Given the description of an element on the screen output the (x, y) to click on. 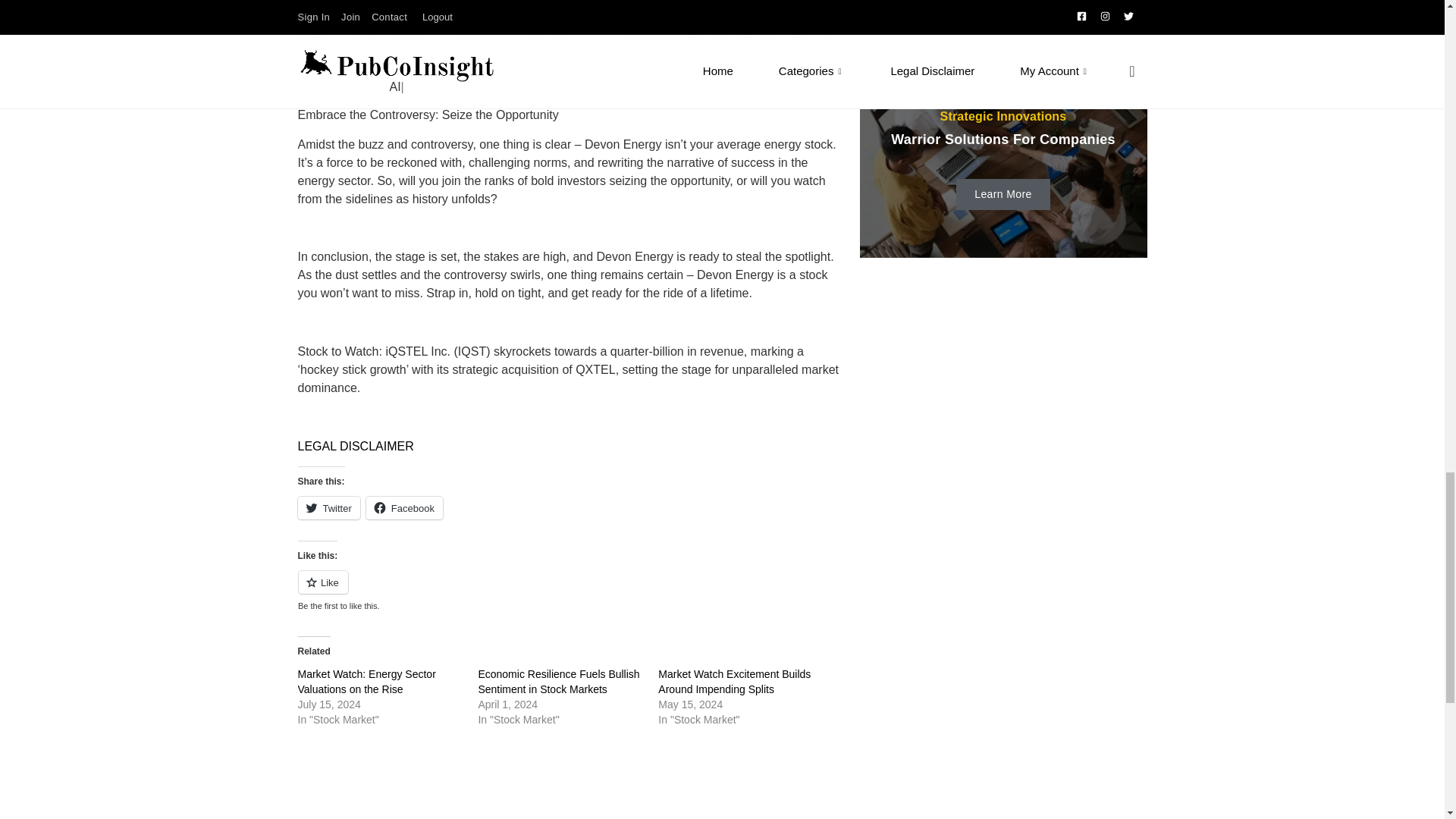
Market Watch: Energy Sector Valuations on the Rise (366, 680)
Economic Resilience Fuels Bullish Sentiment in Stock Markets (558, 680)
Click to share on Facebook (404, 507)
Market Watch Excitement Builds Around Impending Splits (734, 680)
Click to share on Twitter (328, 507)
Like or Reblog (570, 590)
